Given the description of an element on the screen output the (x, y) to click on. 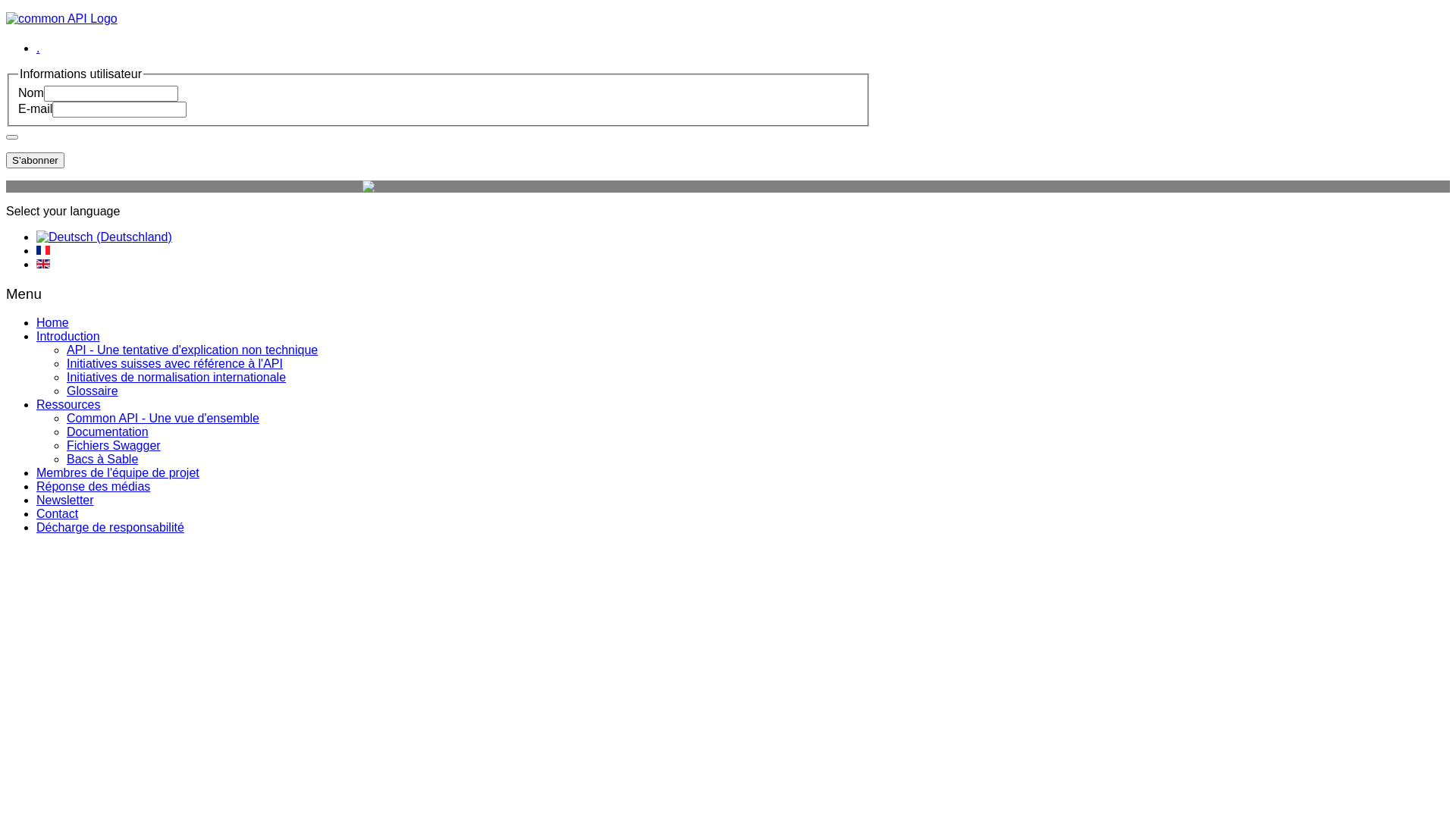
Contact Element type: text (57, 513)
Home Element type: text (52, 322)
Documentation Element type: text (107, 431)
SFTI Element type: hover (438, 186)
Newsletter Element type: text (65, 499)
Common API - Une vue d'ensemble Element type: text (162, 417)
API - Une tentative d'explication non technique Element type: text (191, 349)
Initiatives de normalisation internationale Element type: text (175, 376)
English (United Kingdom) Element type: hover (43, 263)
Deutsch (Deutschland) Element type: hover (104, 237)
Introduction Element type: text (68, 335)
Glossaire Element type: text (92, 390)
Fichiers Swagger Element type: text (113, 445)
. Element type: text (37, 47)
Ressources Element type: text (68, 404)
